Given the description of an element on the screen output the (x, y) to click on. 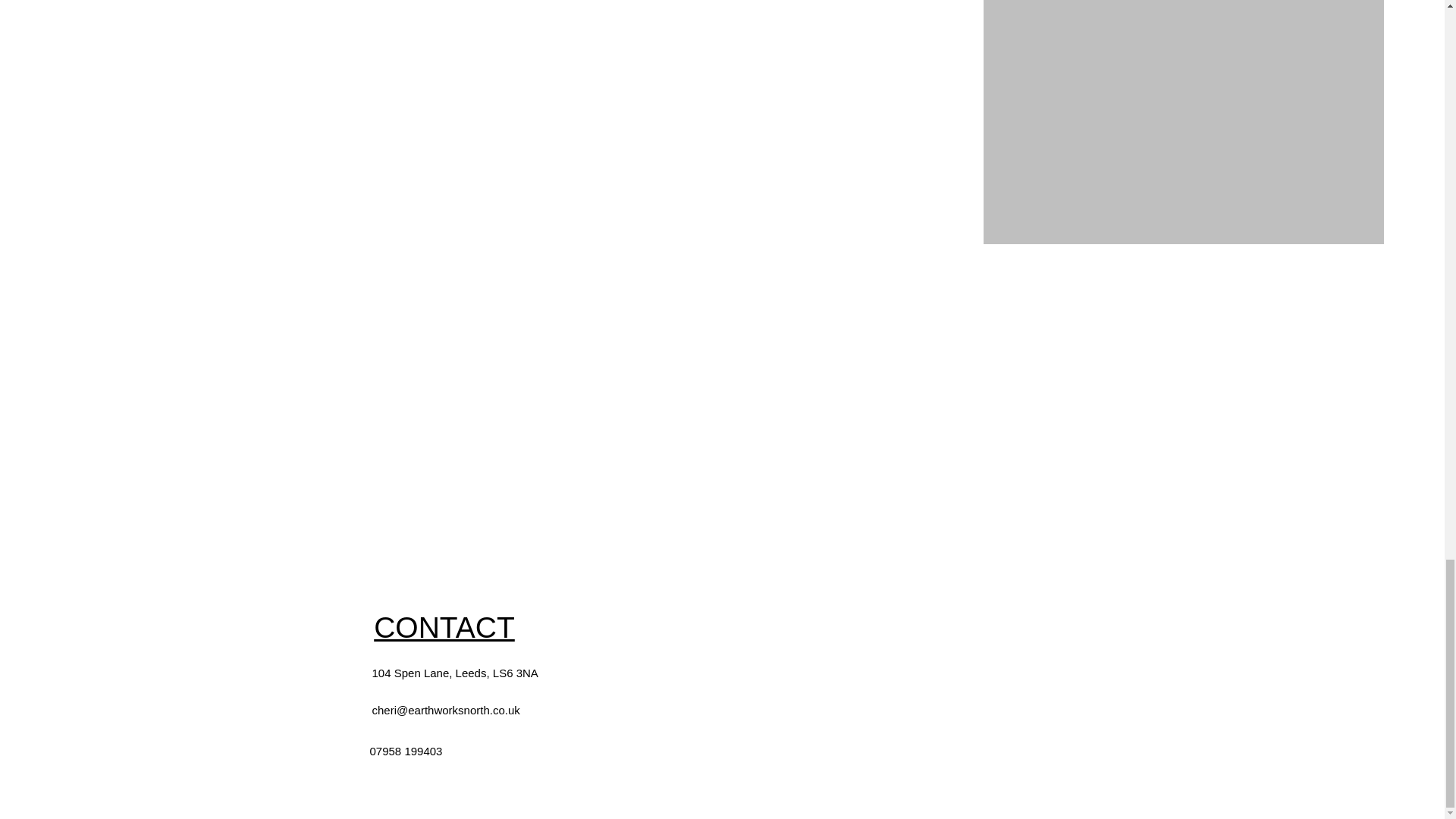
CONTACT (444, 626)
